Given the description of an element on the screen output the (x, y) to click on. 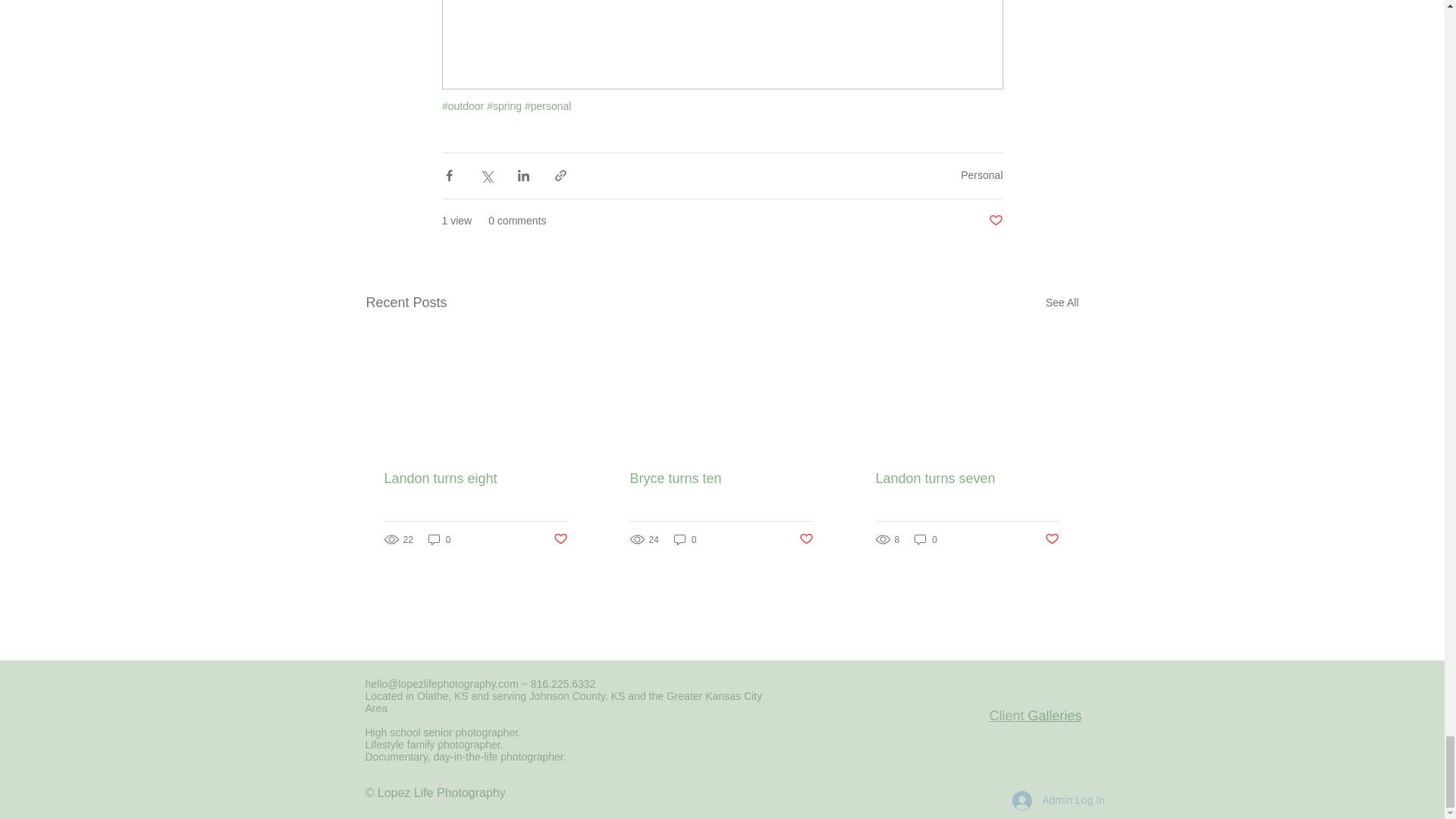
Post not marked as liked (995, 220)
Landon turns eight (475, 478)
0 (439, 539)
See All (1061, 302)
Personal (981, 174)
